Given the description of an element on the screen output the (x, y) to click on. 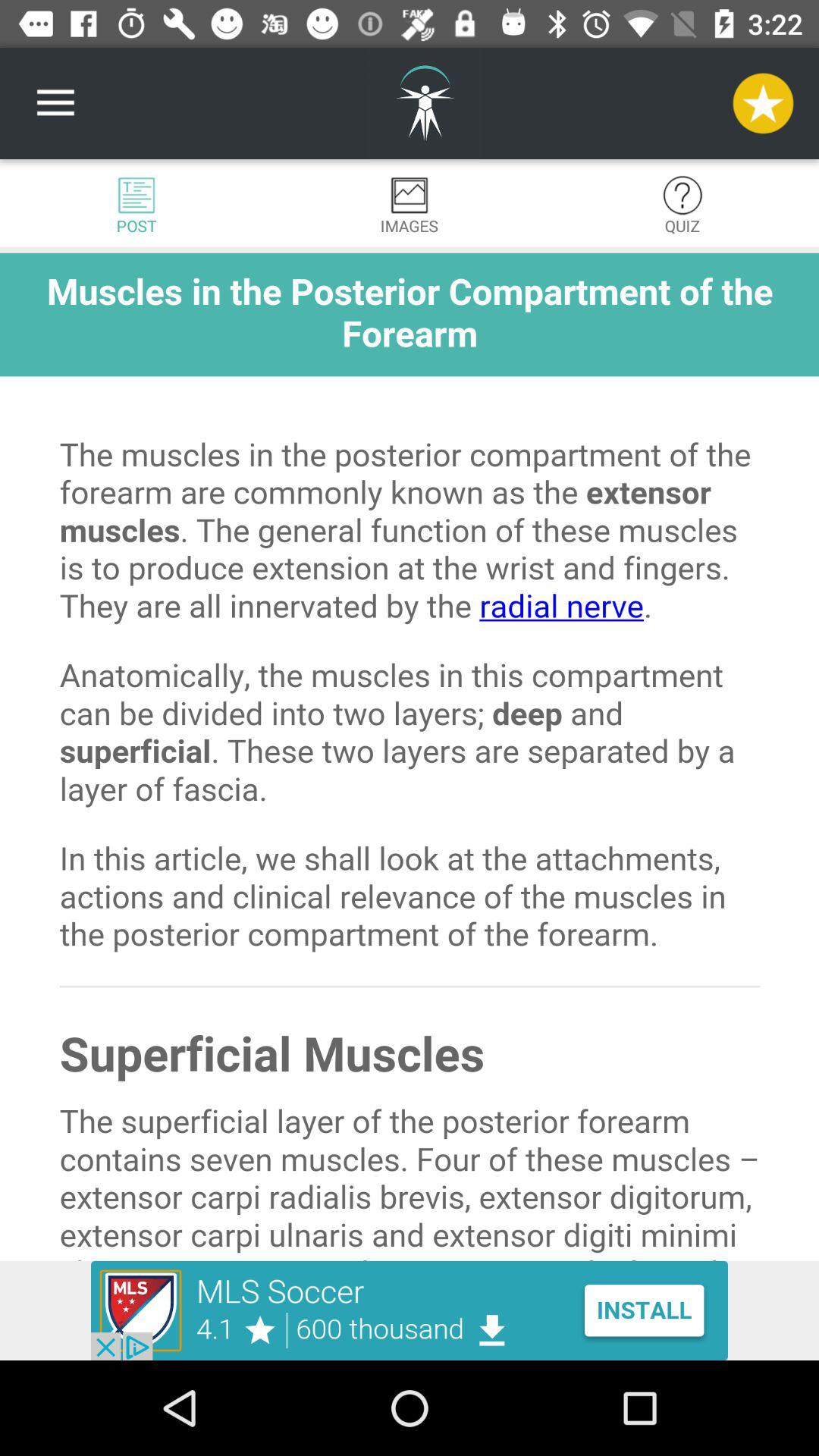
advertisement for mls soccer app (409, 1310)
